Given the description of an element on the screen output the (x, y) to click on. 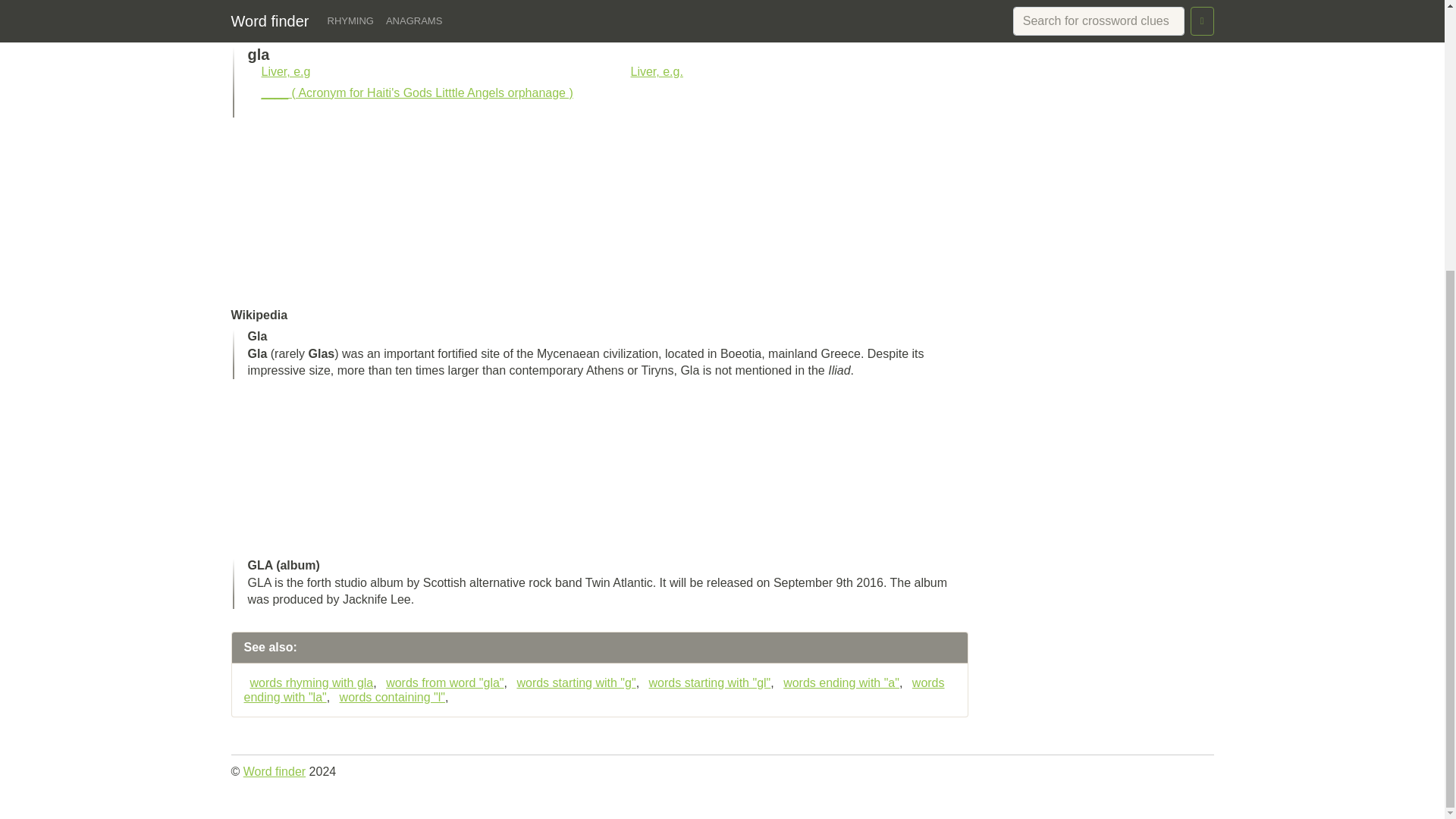
words starting with "gl" (707, 682)
words ending with "la" (594, 689)
5-Letter Words (1095, 2)
Word finder (274, 771)
Liver, e.g. (656, 71)
words ending with "a" (838, 682)
words starting with "g" (572, 682)
words from word "gla" (441, 682)
words rhyming with gla (309, 682)
Liver, e.g (285, 71)
